Given the description of an element on the screen output the (x, y) to click on. 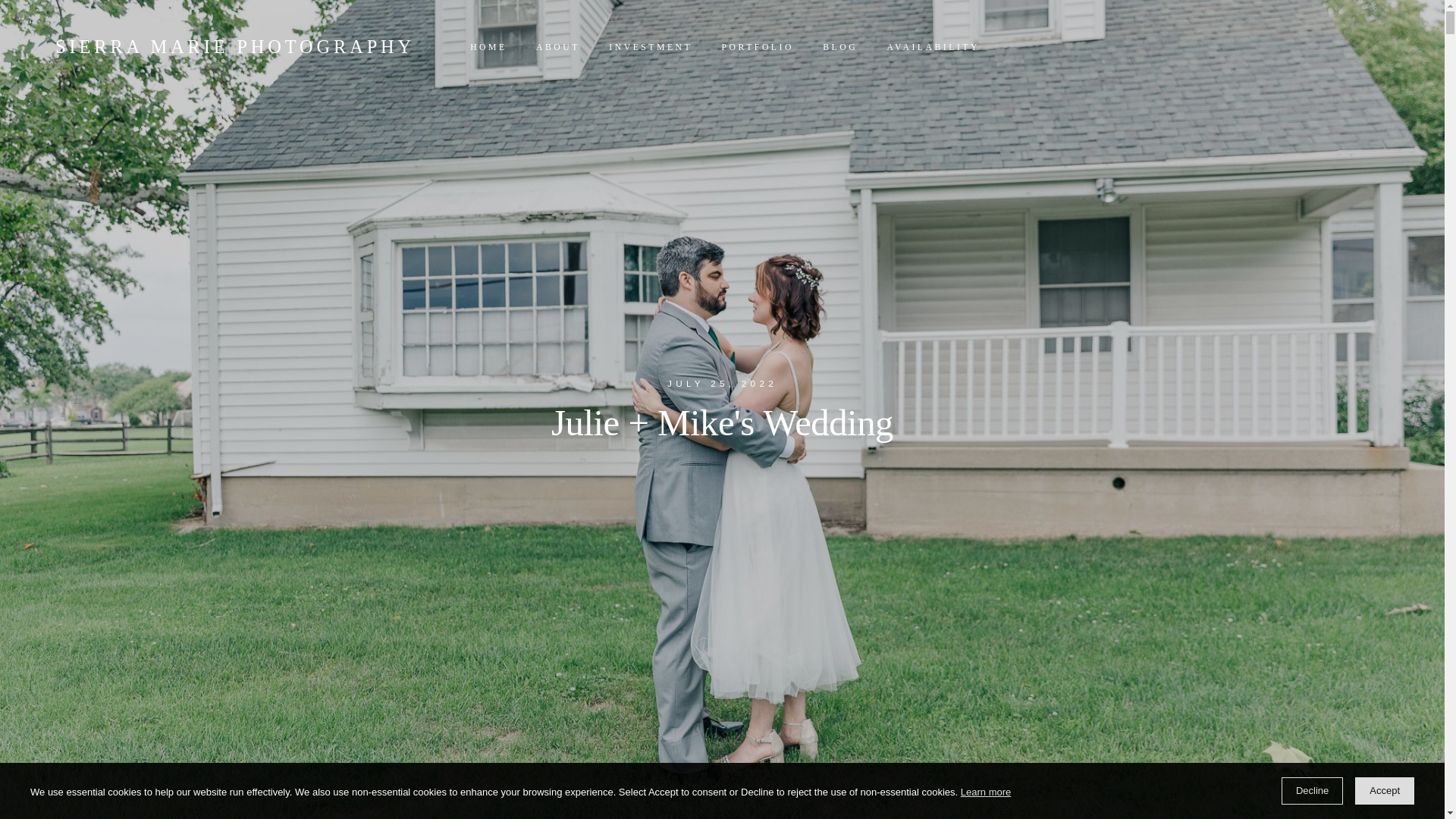
ABOUT (557, 47)
HOME (488, 47)
PORTFOLIO (757, 47)
BLOG (840, 47)
SIERRA MARIE PHOTOGRAPHY (234, 47)
Accept (1384, 790)
AVAILABILITY (933, 47)
INVESTMENT (650, 47)
Learn more (985, 791)
Decline (1311, 790)
